Given the description of an element on the screen output the (x, y) to click on. 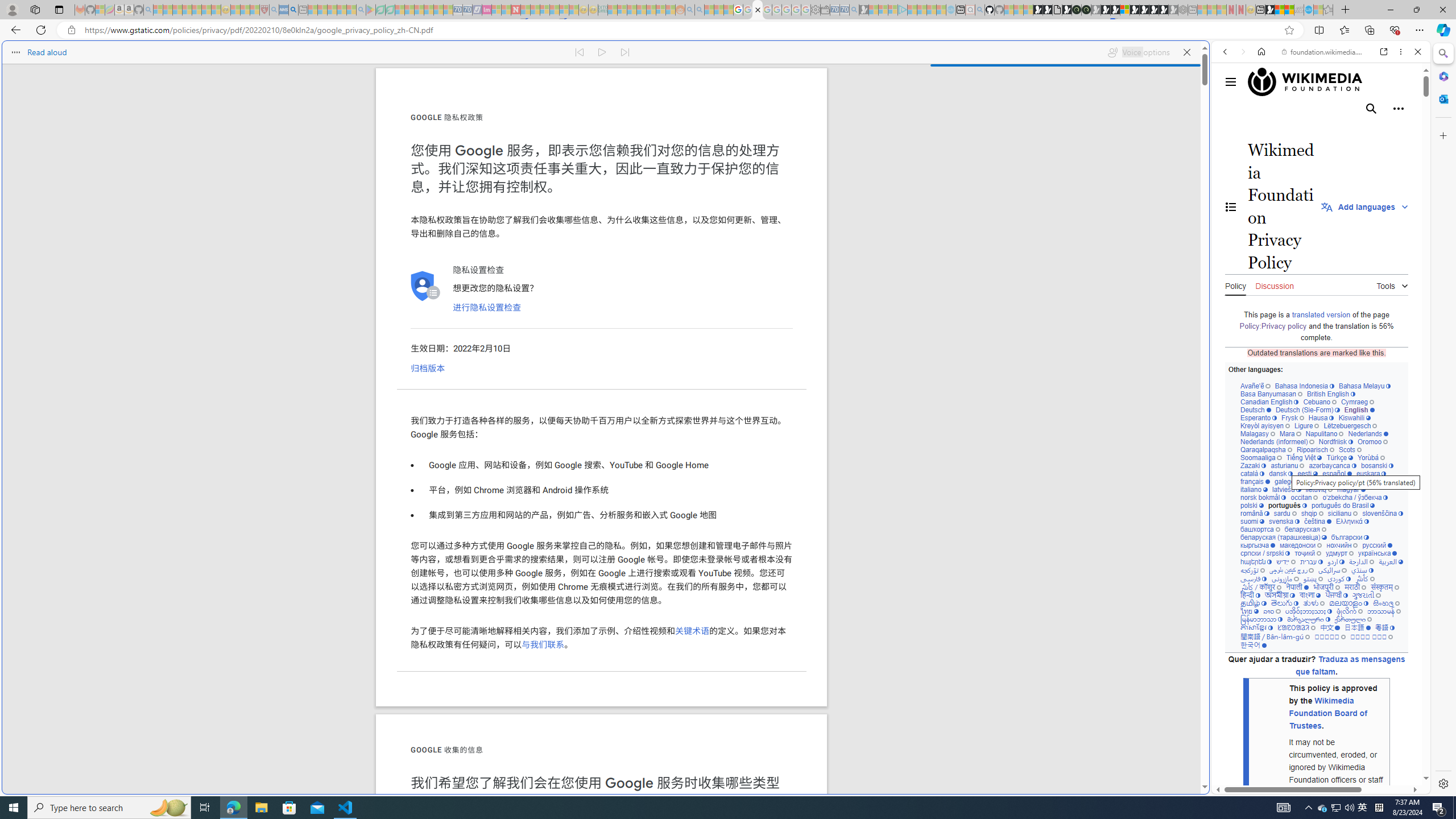
Deutsch (1255, 409)
Zazaki (1253, 465)
Continue to read aloud (Ctrl+Shift+U) (602, 52)
British English (1330, 393)
Toggle the table of contents (1230, 206)
MSN (1118, 536)
occitan (1303, 497)
